Given the description of an element on the screen output the (x, y) to click on. 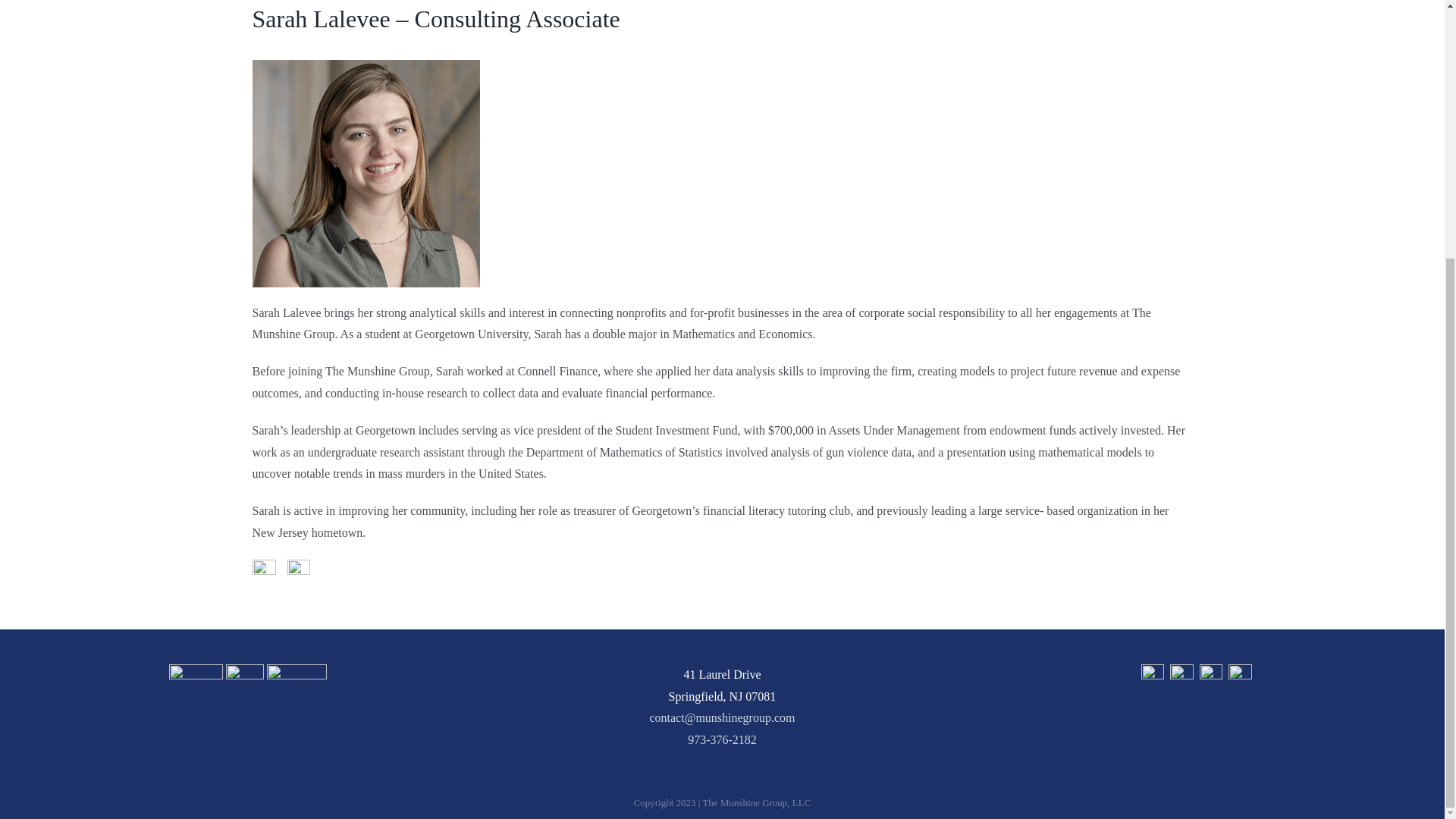
973-376-2182 (722, 739)
